Given the description of an element on the screen output the (x, y) to click on. 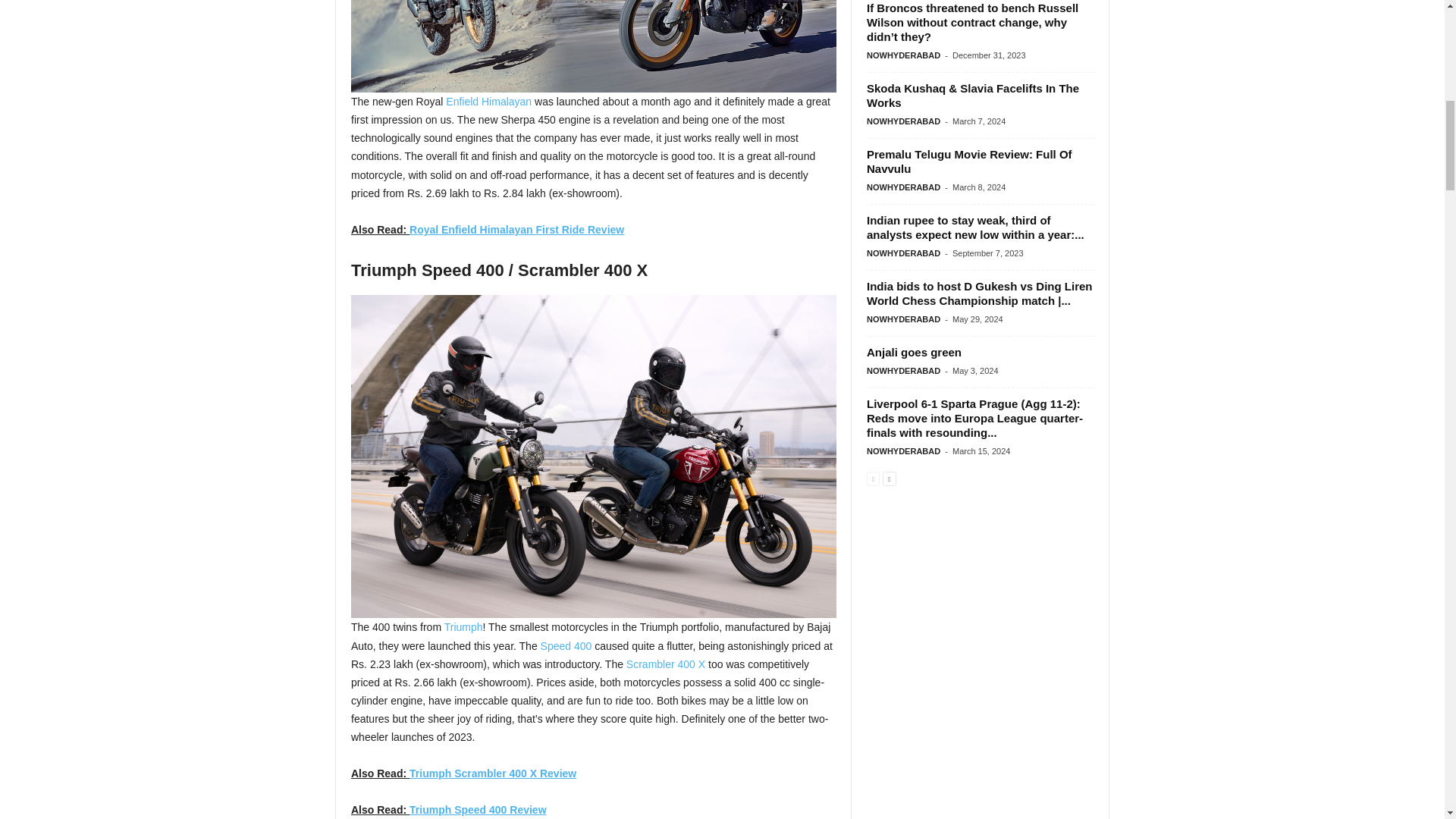
Royal Enfield Himalayan First Ride Review (516, 229)
Speed 400 (566, 645)
Scrambler 400 X (665, 664)
Triumph Speed 400 Review (478, 809)
Enfield Himalayan (488, 101)
Top 10 Motorcycle Launches Of 2023 (592, 46)
Triumph (463, 626)
Triumph Scrambler 400 X Review (492, 773)
